Given the description of an element on the screen output the (x, y) to click on. 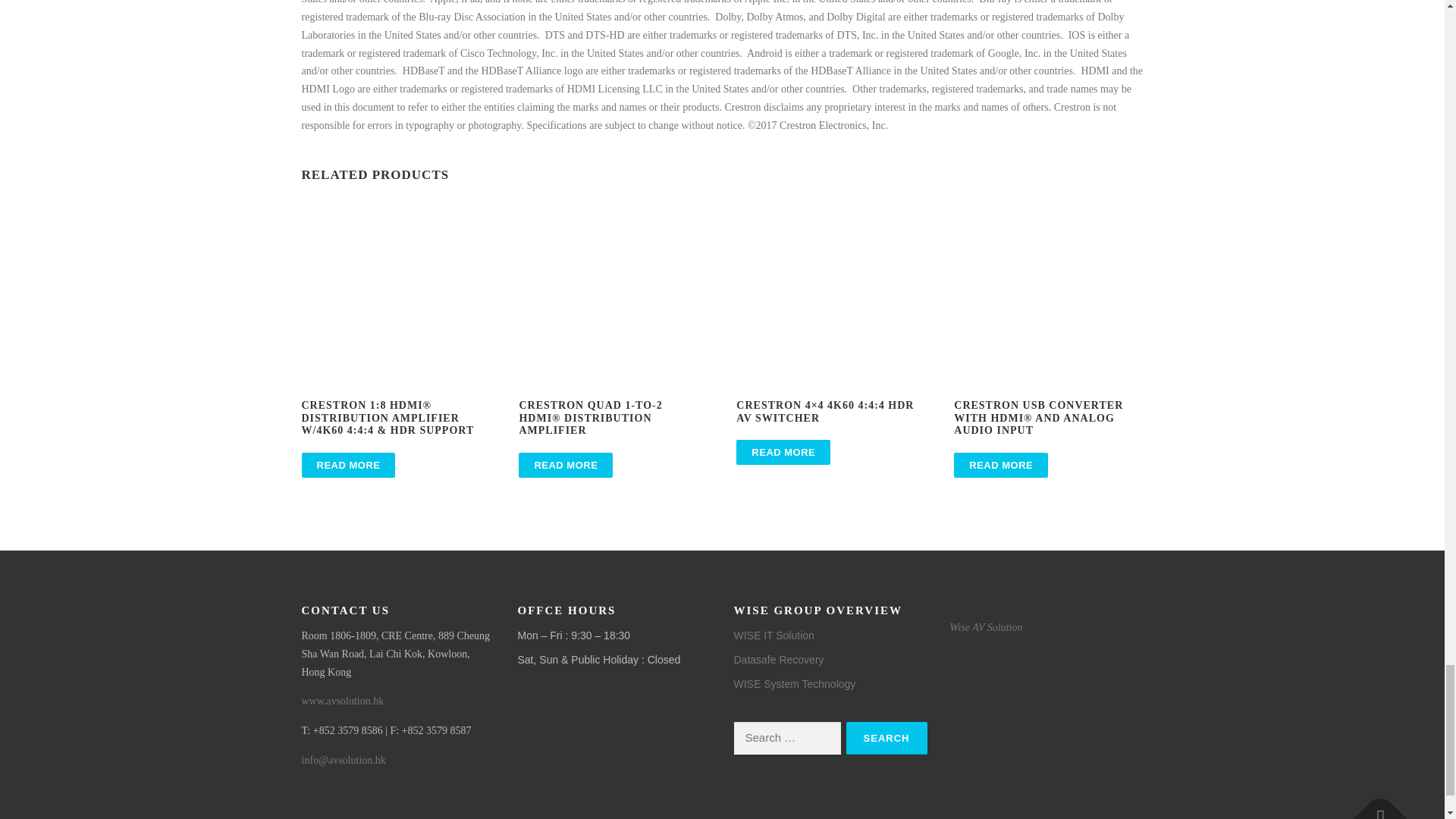
Search (886, 737)
Search (886, 737)
Back To Top (1372, 805)
